Given the description of an element on the screen output the (x, y) to click on. 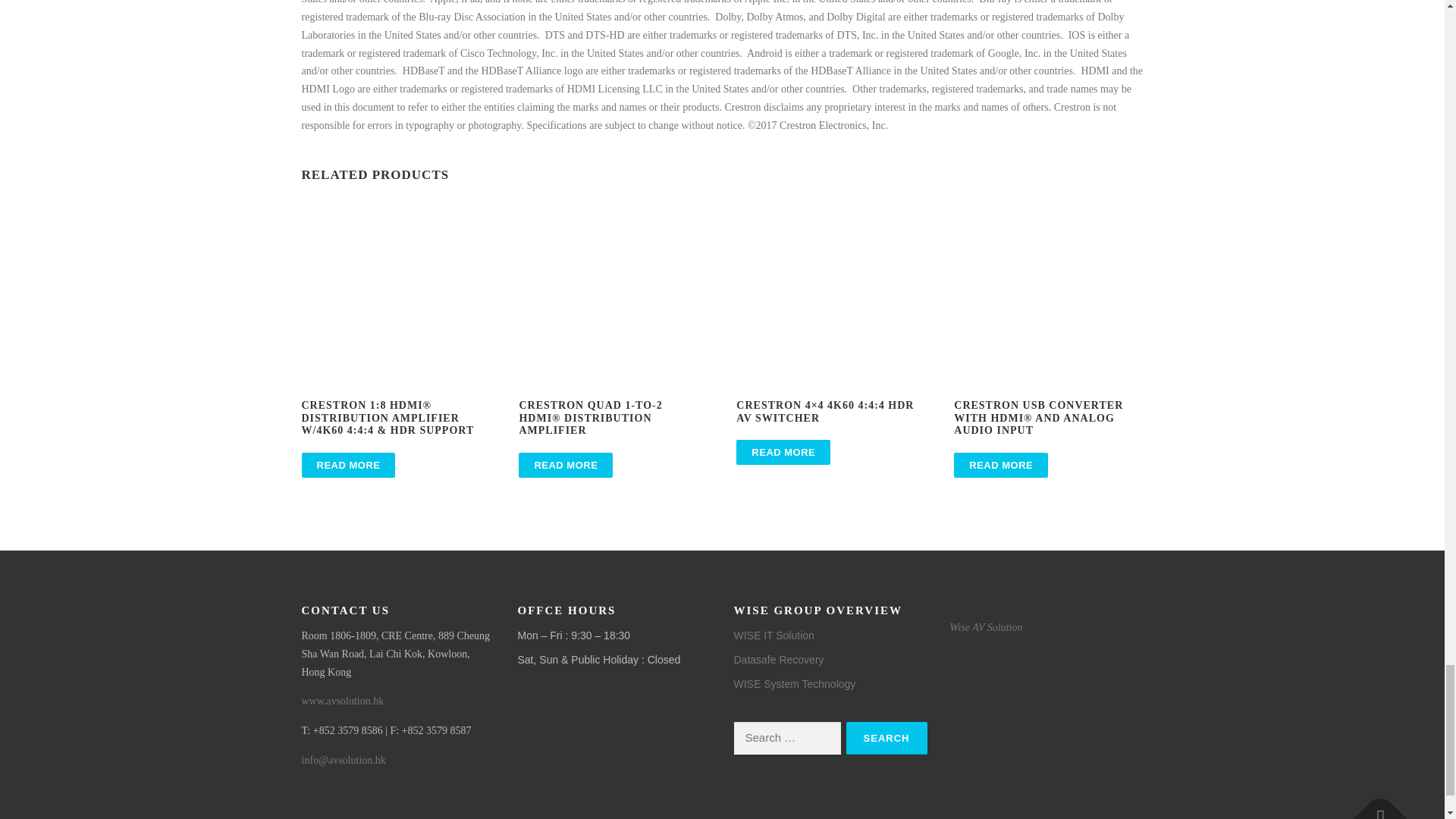
Search (886, 737)
Search (886, 737)
Back To Top (1372, 805)
